Given the description of an element on the screen output the (x, y) to click on. 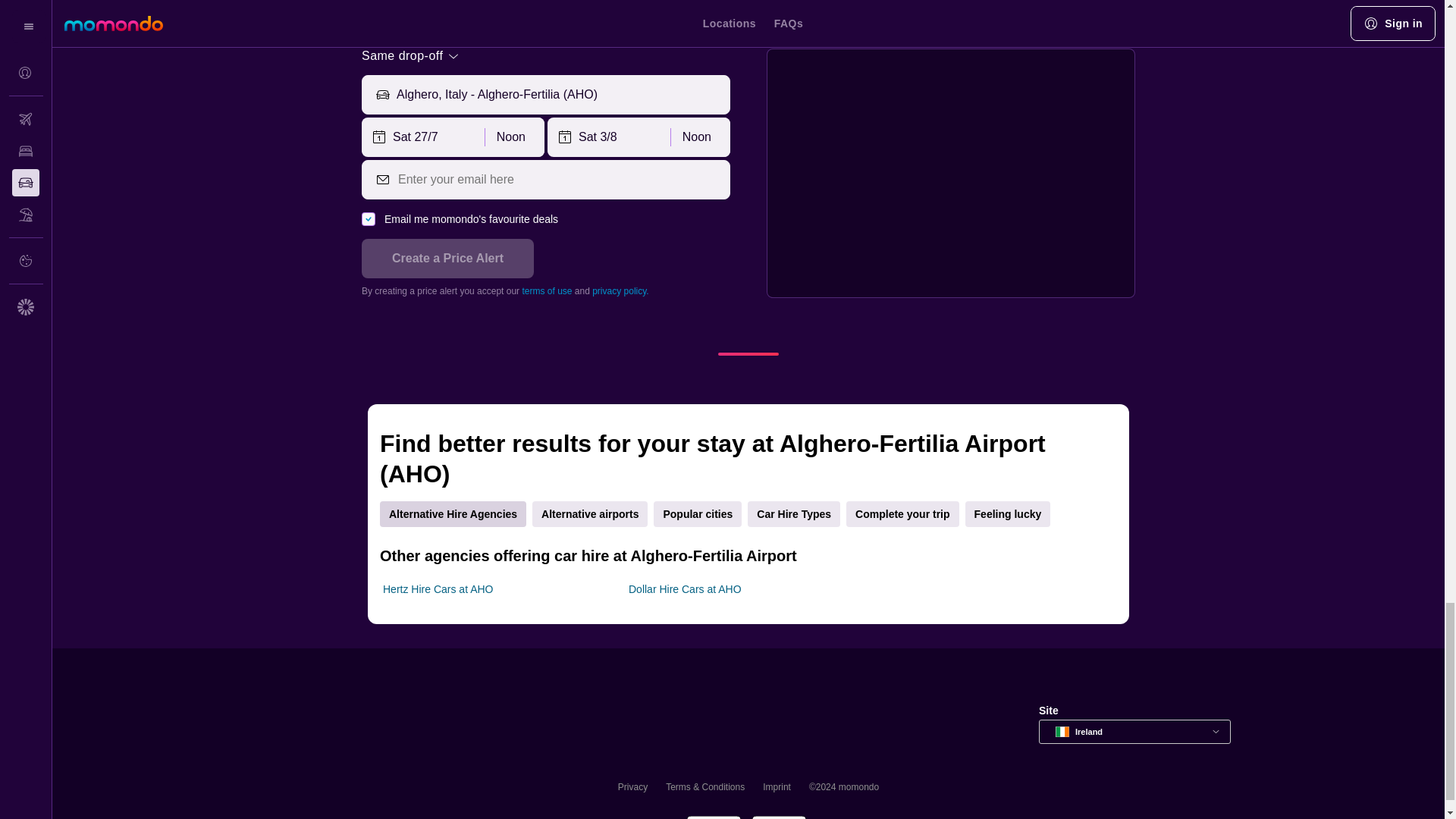
terms of use (546, 290)
Popular cities (697, 514)
Hertz Hire Cars at AHO (437, 589)
Complete your trip (901, 514)
privacy policy. (619, 290)
Dollar Hire Cars at AHO (684, 589)
Car Hire Types (794, 514)
Alternative airports (589, 514)
Download on the App Store (778, 815)
Get it on Google Play (713, 815)
Feeling lucky (1008, 514)
Alternative Hire Agencies (452, 514)
Create a Price Alert (447, 258)
